Given the description of an element on the screen output the (x, y) to click on. 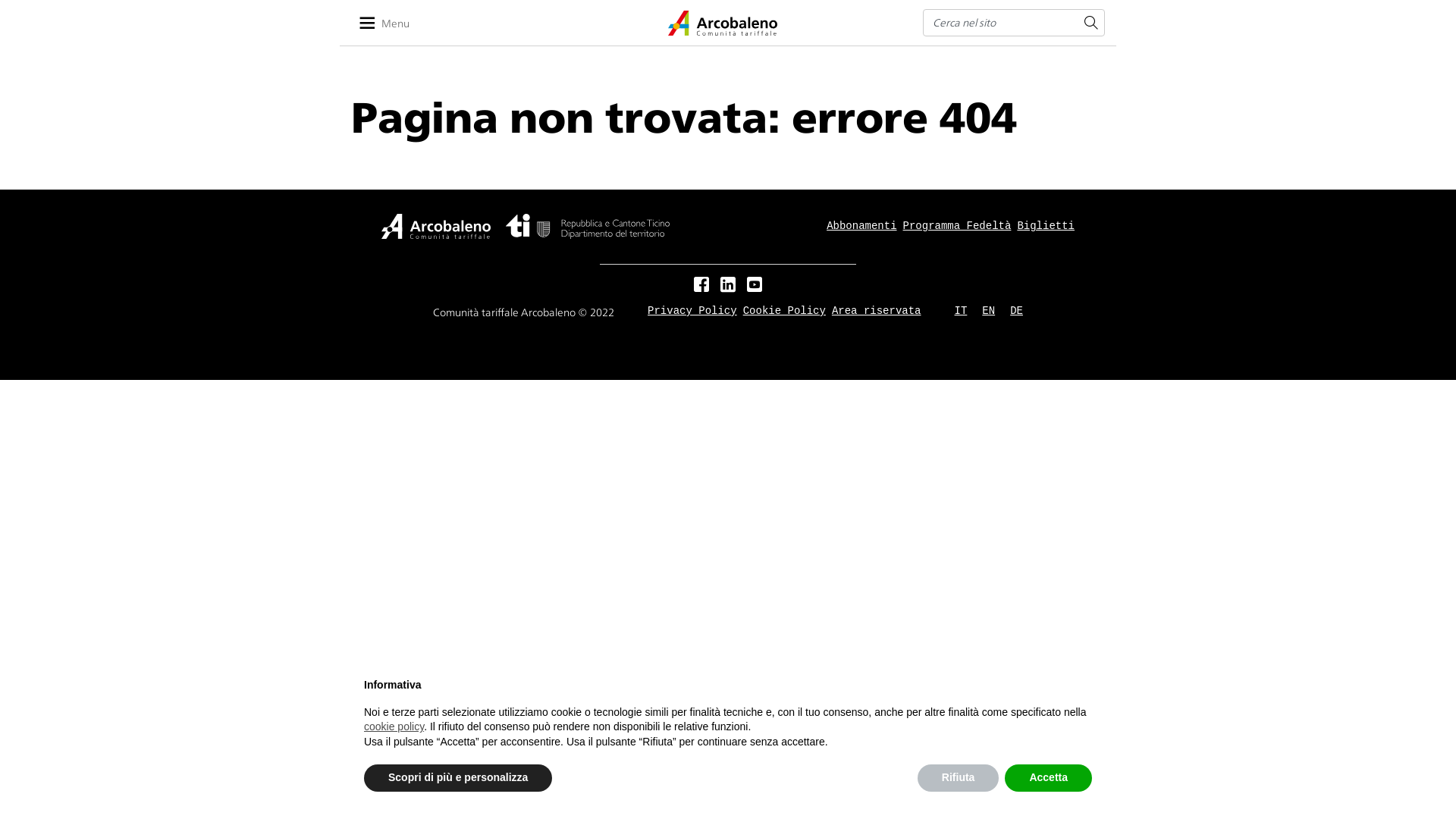
Cookie Policy Element type: text (784, 310)
Area riservata Element type: text (876, 310)
https://www.facebook.com/arcobaleno.lasceltagiusta Element type: hover (701, 285)
EN Element type: text (988, 310)
Rifiuta Element type: text (958, 777)
Accetta Element type: text (1048, 777)
DE Element type: text (1016, 310)
Abbonamenti Element type: text (861, 225)
Biglietti Element type: text (1045, 225)
https://www.youtube.com/channel/UCzeL-7s-7rxBC6tIaOvgjRA Element type: hover (754, 285)
Privacy Policy Element type: text (692, 310)
Menu Element type: text (390, 23)
cookie policy Element type: text (393, 726)
Home Element type: hover (722, 22)
IT Element type: text (960, 310)
